Given the description of an element on the screen output the (x, y) to click on. 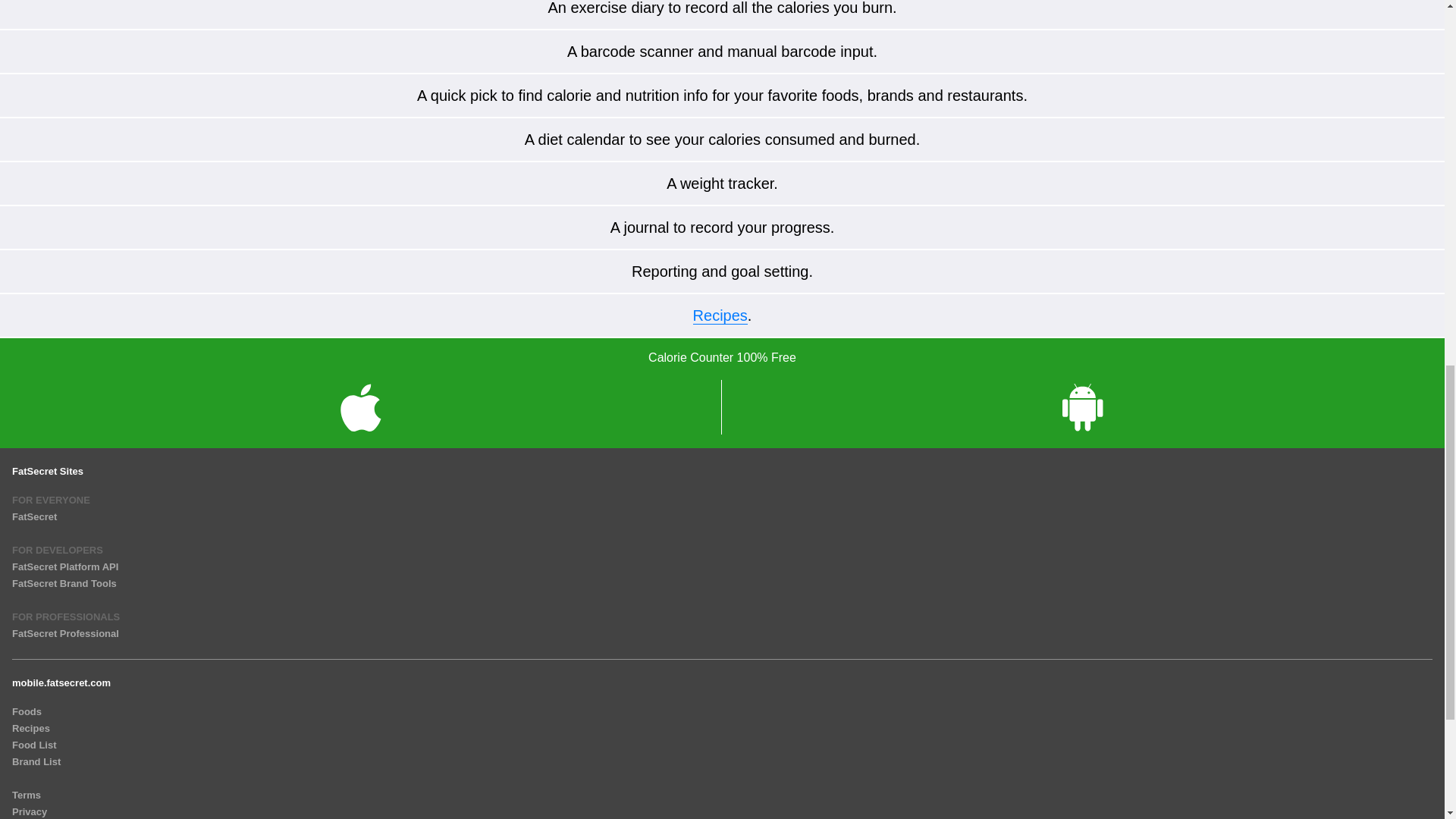
FatSecret Brand Tools (63, 583)
Foods (26, 711)
FatSecret (33, 516)
Privacy (28, 811)
Recipes (30, 727)
FatSecret Platform API (64, 566)
FatSecret Professional (65, 633)
Food List (33, 745)
Terms (25, 794)
Recipes (720, 315)
Brand List (36, 761)
